Given the description of an element on the screen output the (x, y) to click on. 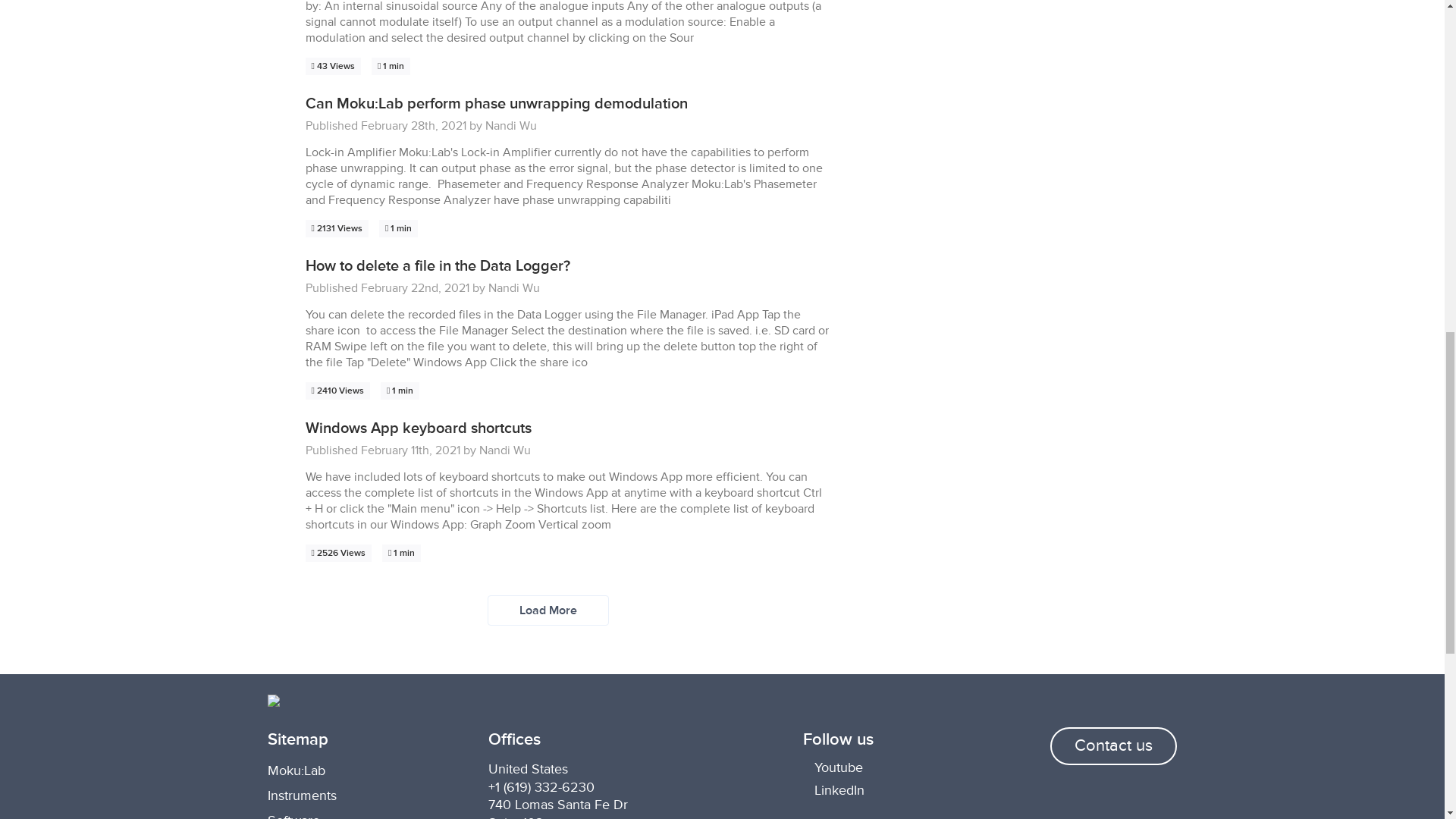
Nandi Wu (513, 287)
LinkedIn (903, 789)
Contact us (1112, 745)
Youtube (903, 766)
Nandi Wu (510, 125)
How to delete a file in the Data Logger? (436, 266)
Nandi Wu (505, 450)
Moku:Lab (295, 770)
Can Moku:Lab perform phase unwrapping demodulation (495, 104)
Software (292, 815)
Instruments (301, 795)
Windows App keyboard shortcuts (417, 428)
